Given the description of an element on the screen output the (x, y) to click on. 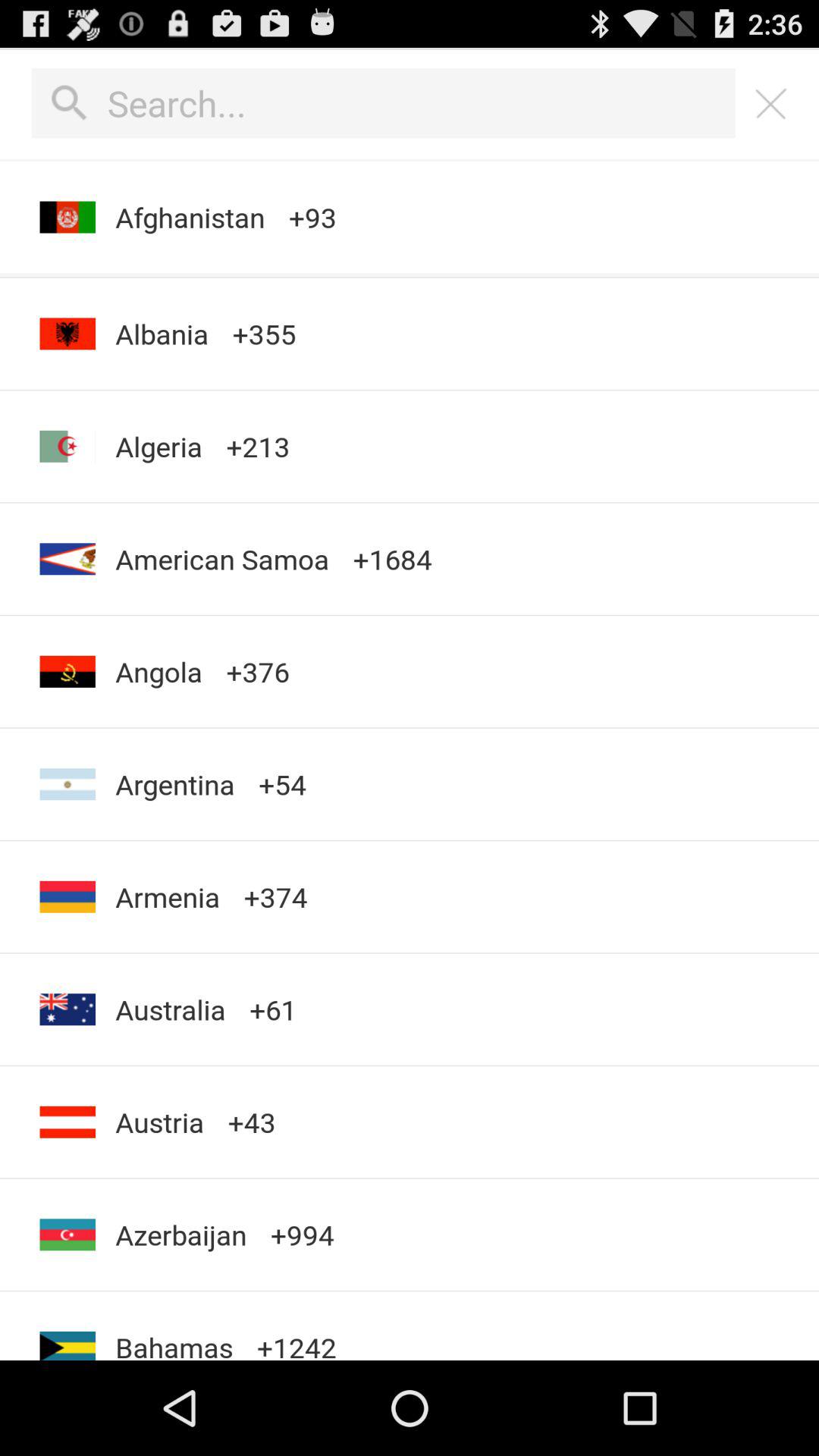
tap the angola icon (158, 671)
